Given the description of an element on the screen output the (x, y) to click on. 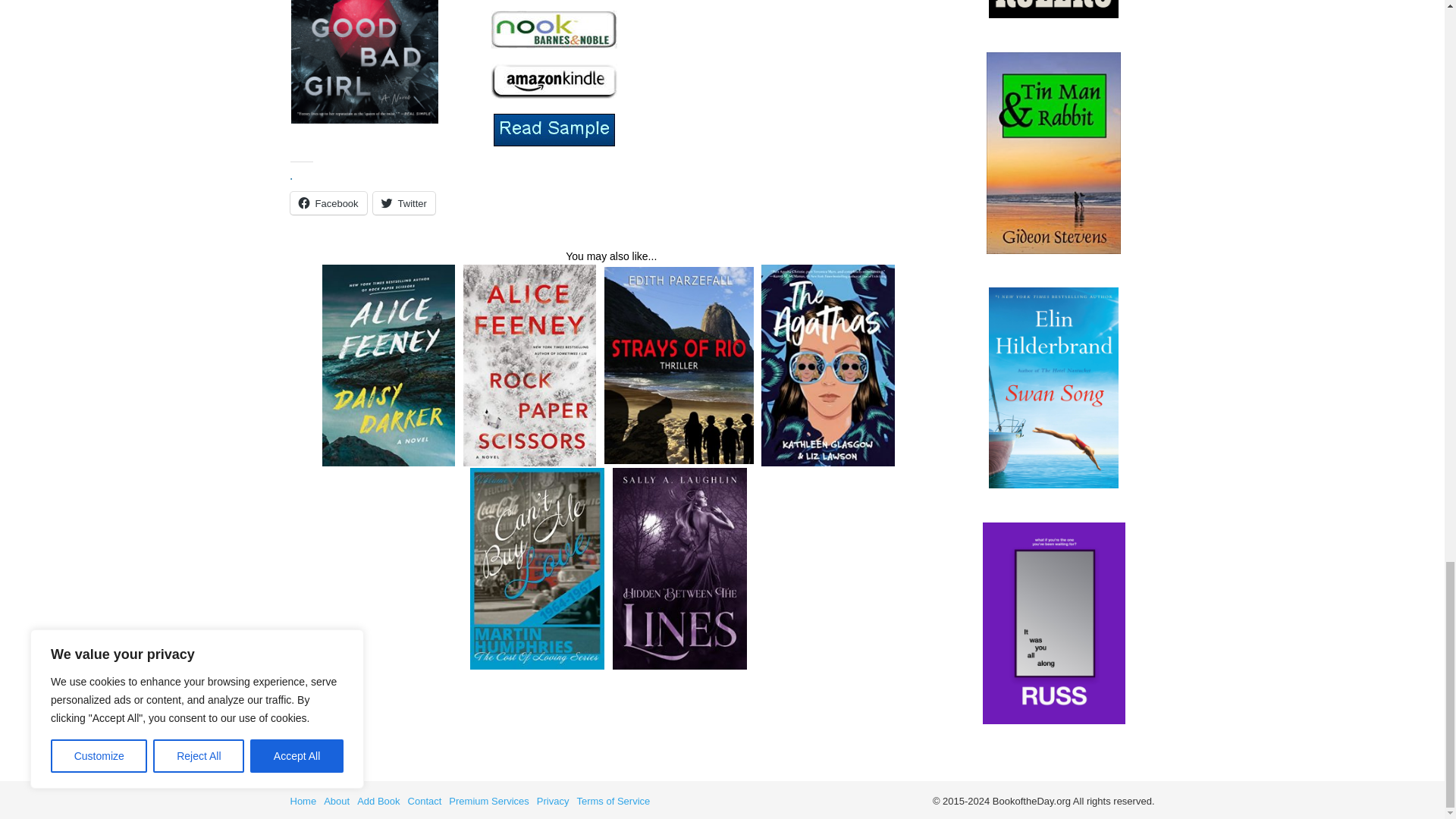
Click to share on Twitter (403, 202)
Click to share on Facebook (327, 202)
